Given the description of an element on the screen output the (x, y) to click on. 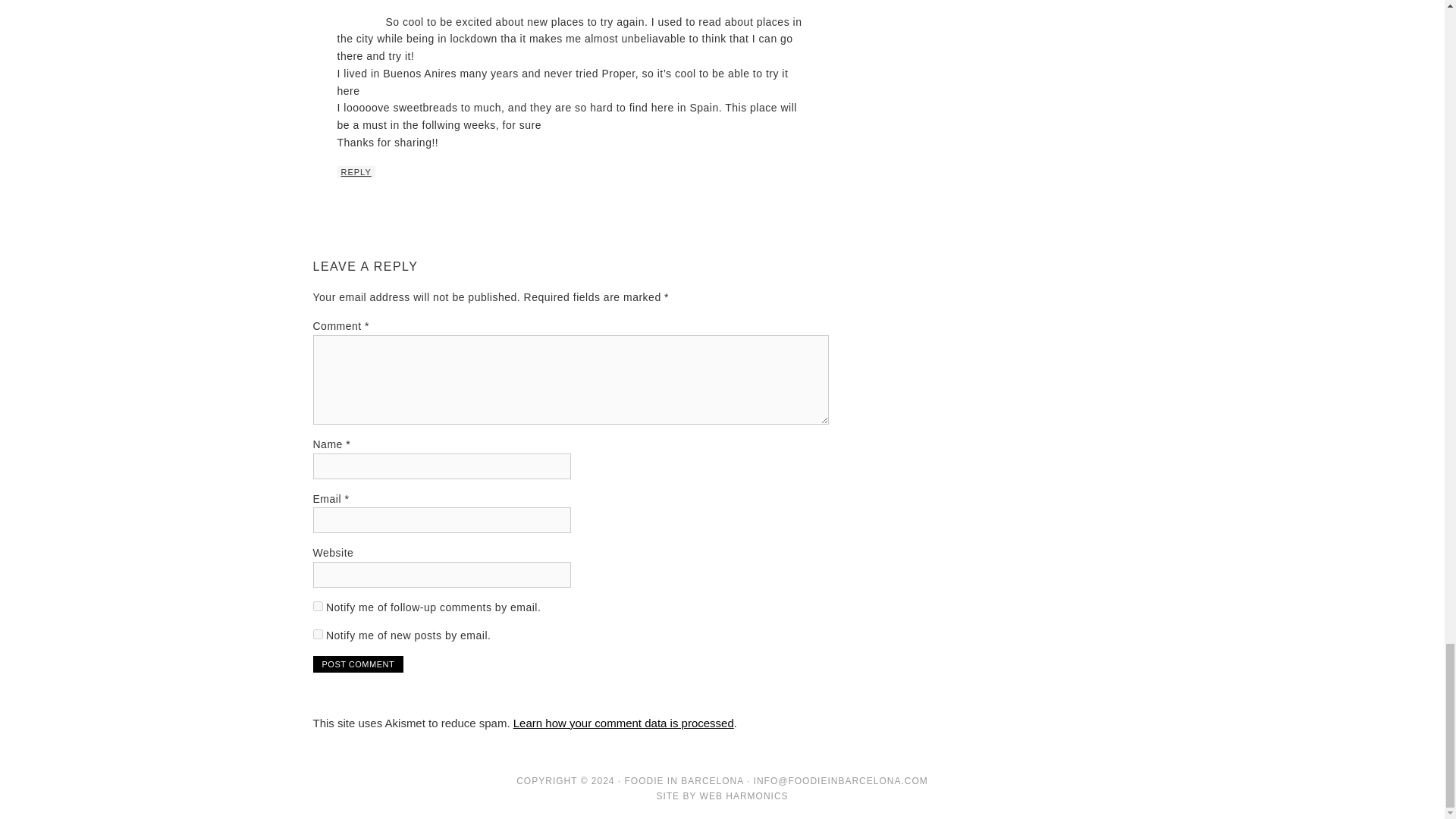
subscribe (317, 634)
subscribe (317, 605)
Post Comment (358, 664)
